Given the description of an element on the screen output the (x, y) to click on. 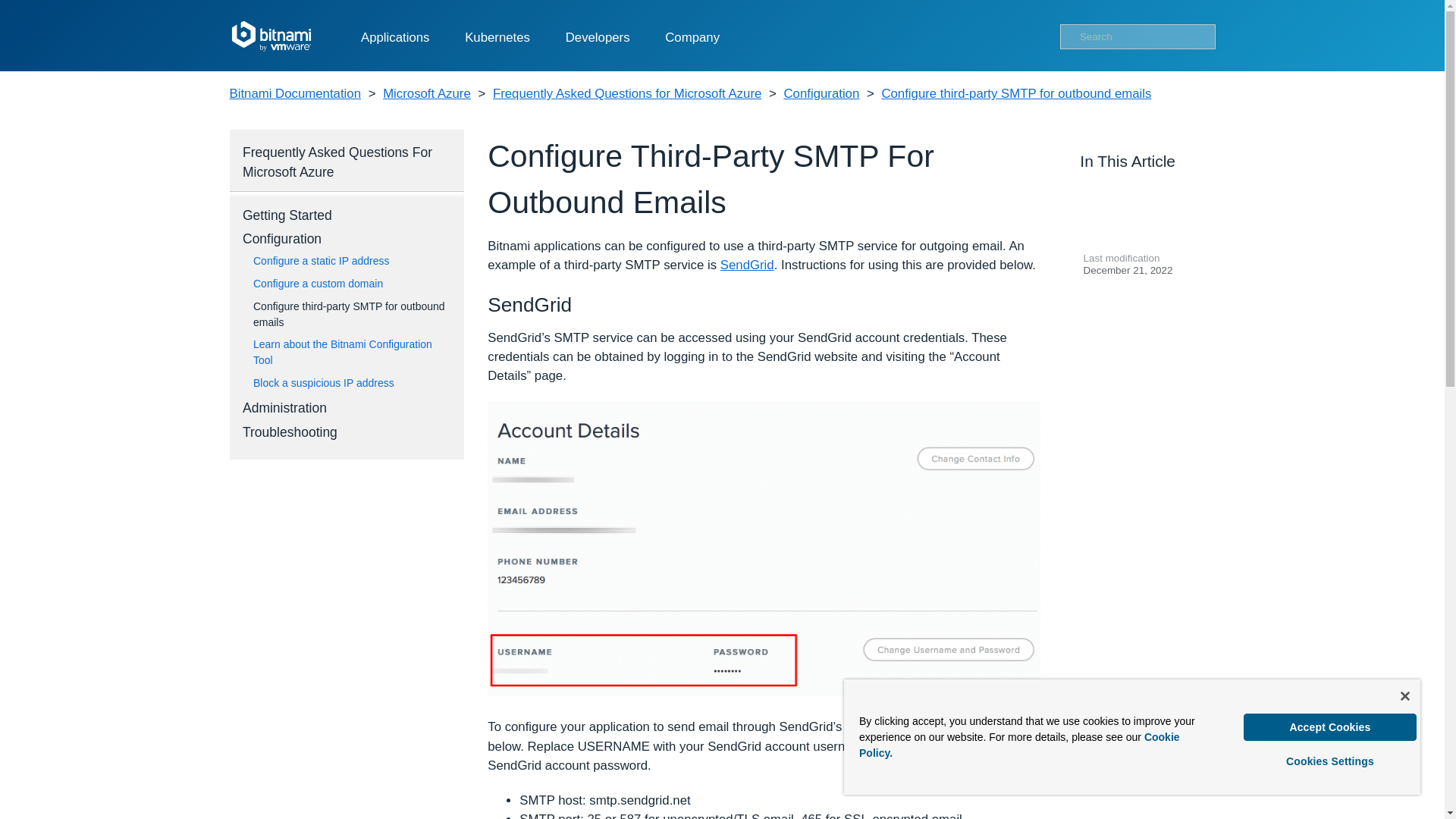
Configuration (821, 93)
Kubernetes (497, 37)
Applications (395, 37)
Microsoft Azure (426, 93)
Company (692, 37)
Configure third-party SMTP for outbound emails (1015, 93)
Developers (598, 37)
Frequently Asked Questions for Microsoft Azure (627, 93)
Bitnami Documentation (294, 93)
